Given the description of an element on the screen output the (x, y) to click on. 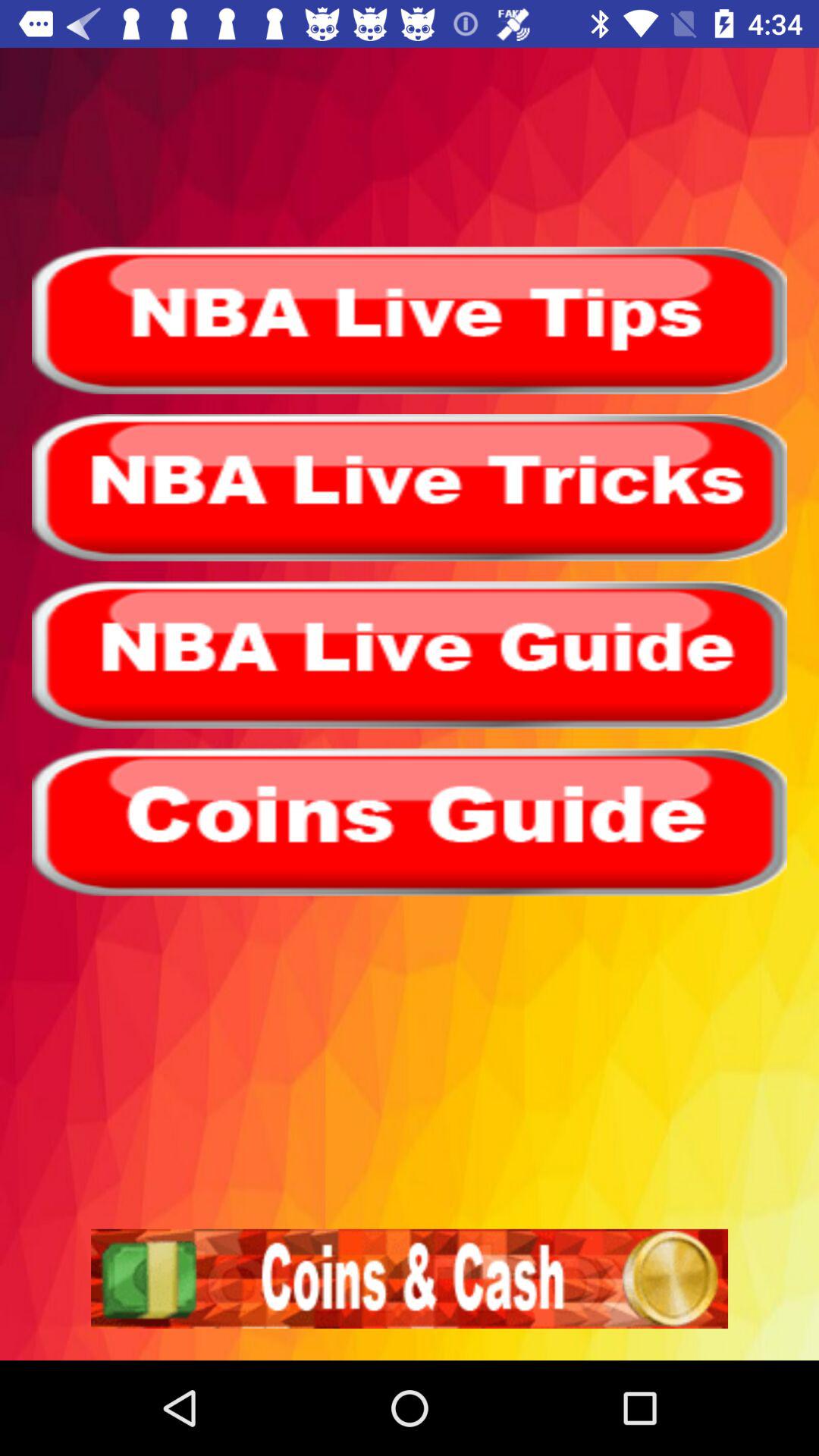
select live tricks option (409, 487)
